Given the description of an element on the screen output the (x, y) to click on. 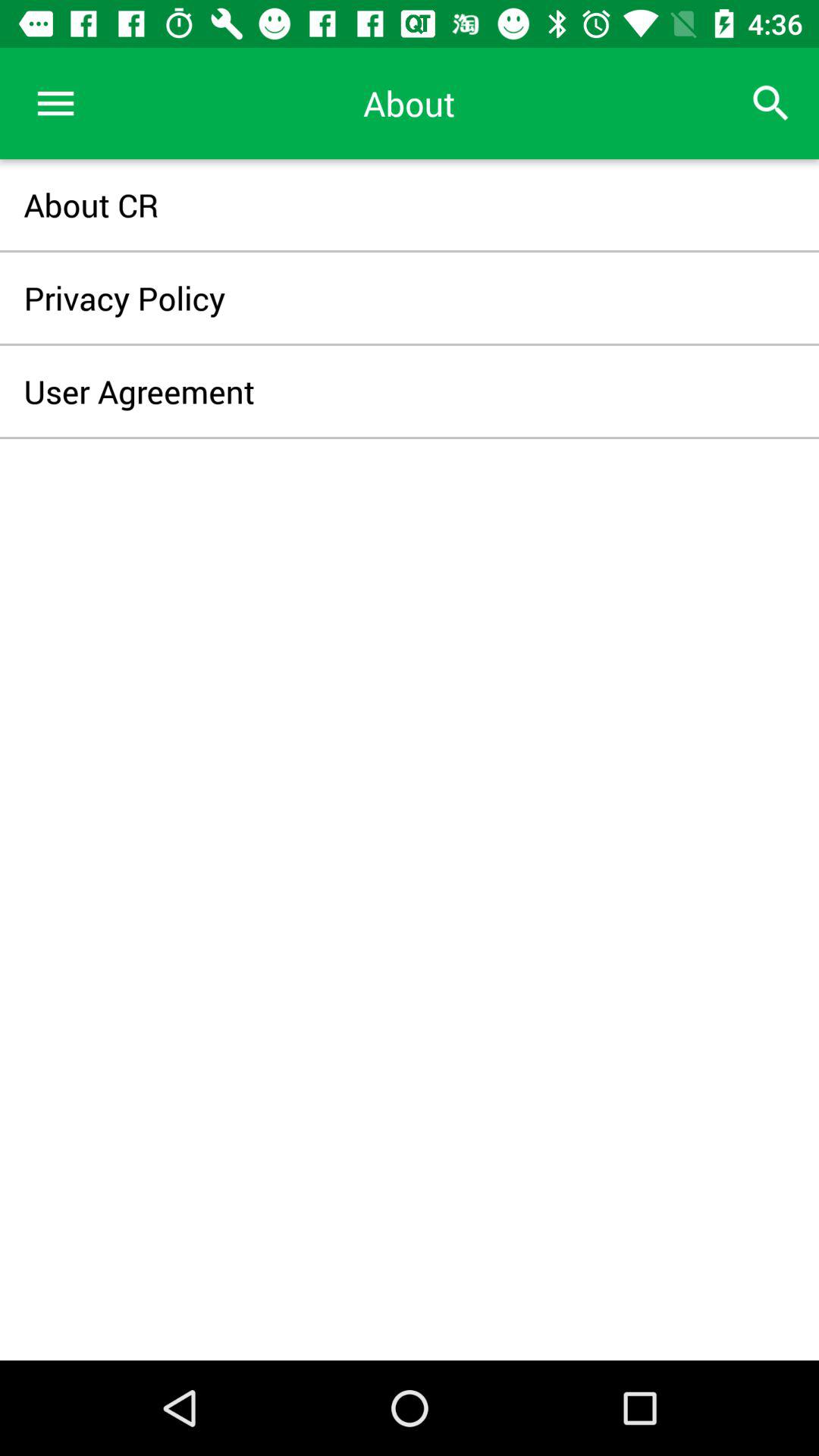
open the item to the right of about icon (771, 103)
